Given the description of an element on the screen output the (x, y) to click on. 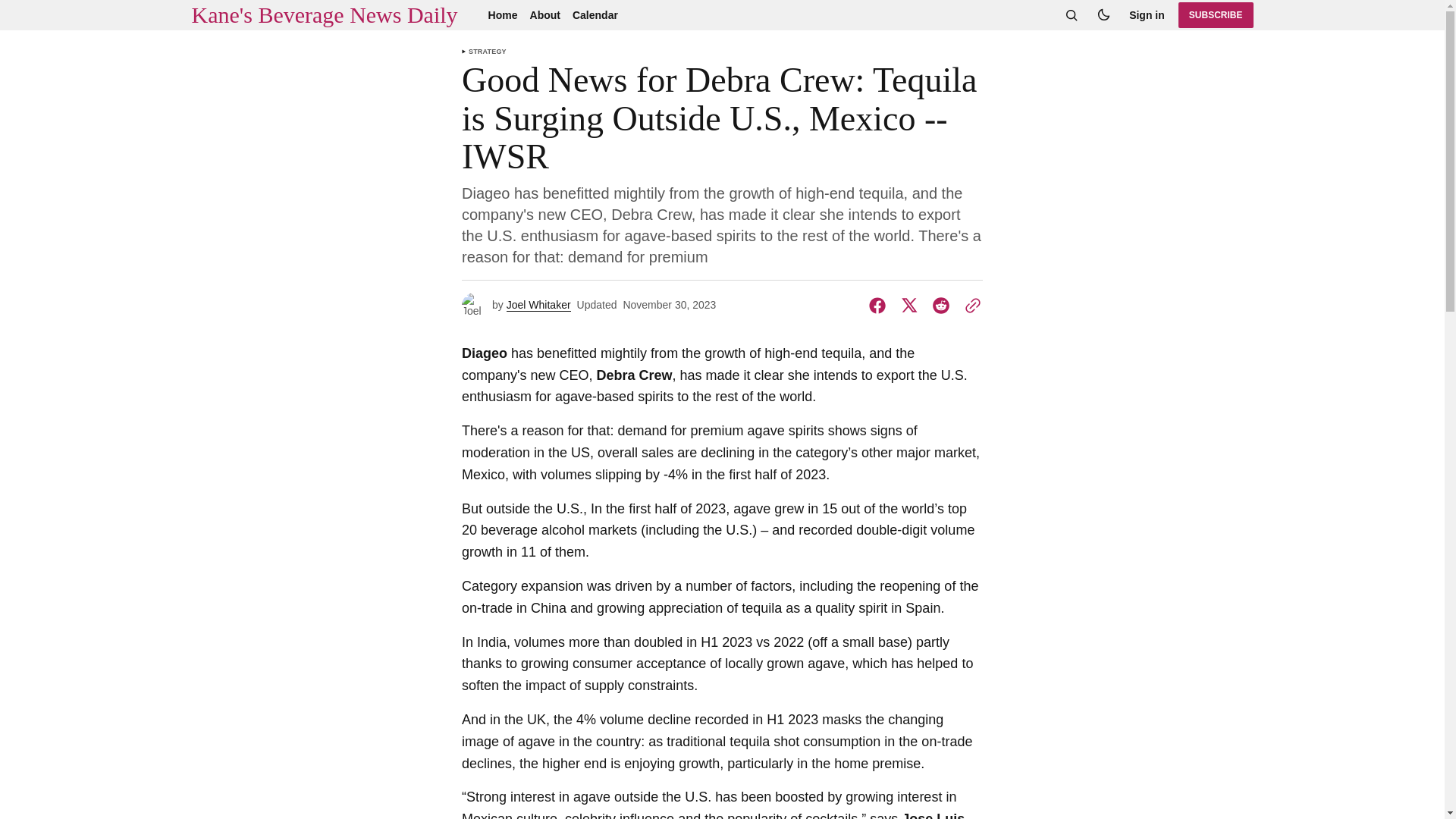
Sign in (1146, 14)
SUBSCRIBE (1215, 14)
About (545, 15)
Calendar (595, 15)
Kane's Beverage News Daily (323, 15)
Home (502, 15)
Joel Whitaker (538, 305)
STRATEGY (487, 51)
Search button (1071, 15)
